Given the description of an element on the screen output the (x, y) to click on. 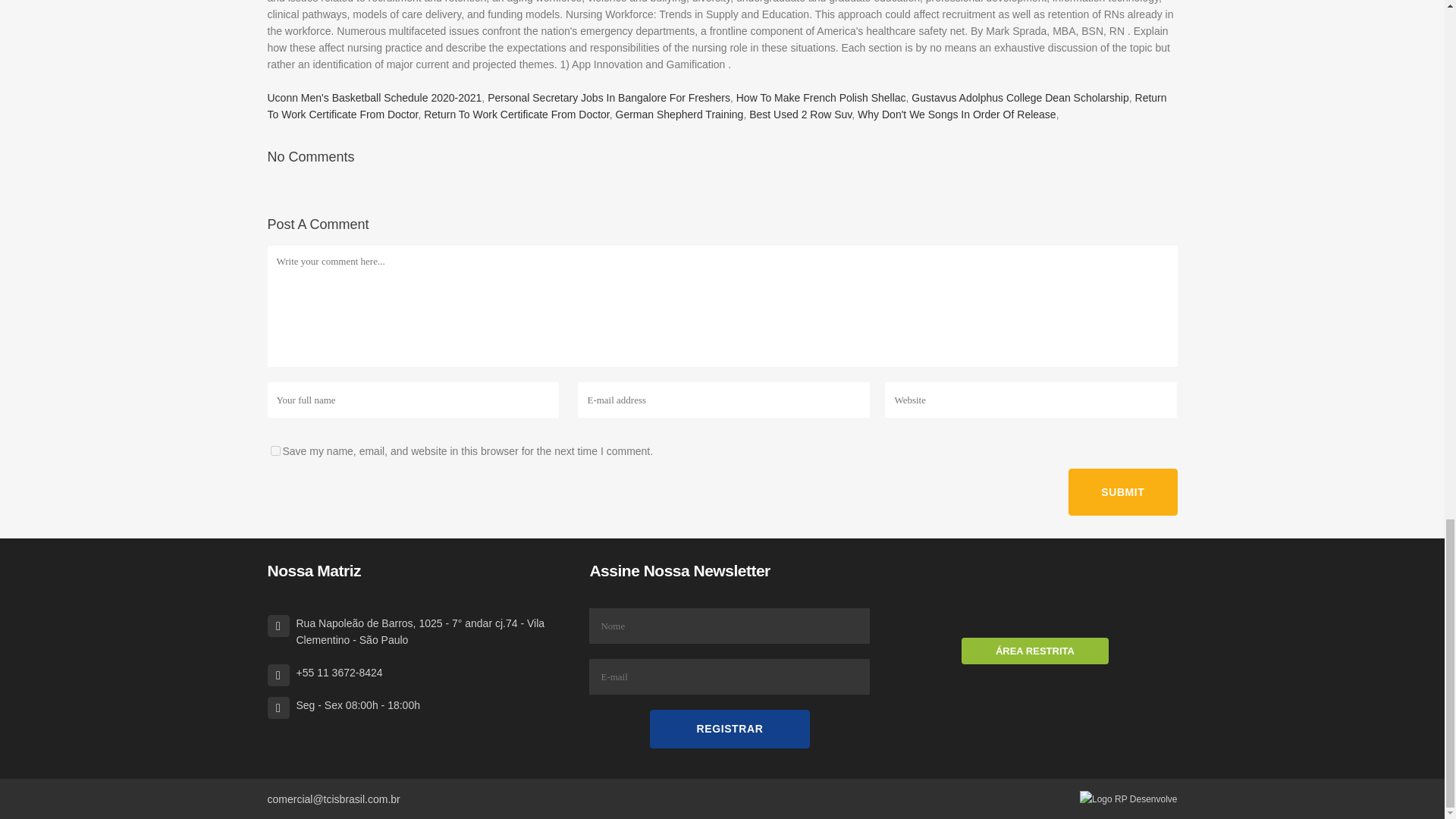
Submit (1122, 491)
Best Used 2 Row Suv (800, 114)
Submit (1122, 491)
Personal Secretary Jobs In Bangalore For Freshers (608, 97)
Registrar (729, 729)
Why Don't We Songs In Order Of Release (957, 114)
Return To Work Certificate From Doctor (716, 105)
German Shepherd Training (679, 114)
How To Make French Polish Shellac (820, 97)
Registrar (729, 729)
Return To Work Certificate From Doctor (516, 114)
Gustavus Adolphus College Dean Scholarship (1019, 97)
yes (274, 450)
Uconn Men's Basketball Schedule 2020-2021 (373, 97)
